Given the description of an element on the screen output the (x, y) to click on. 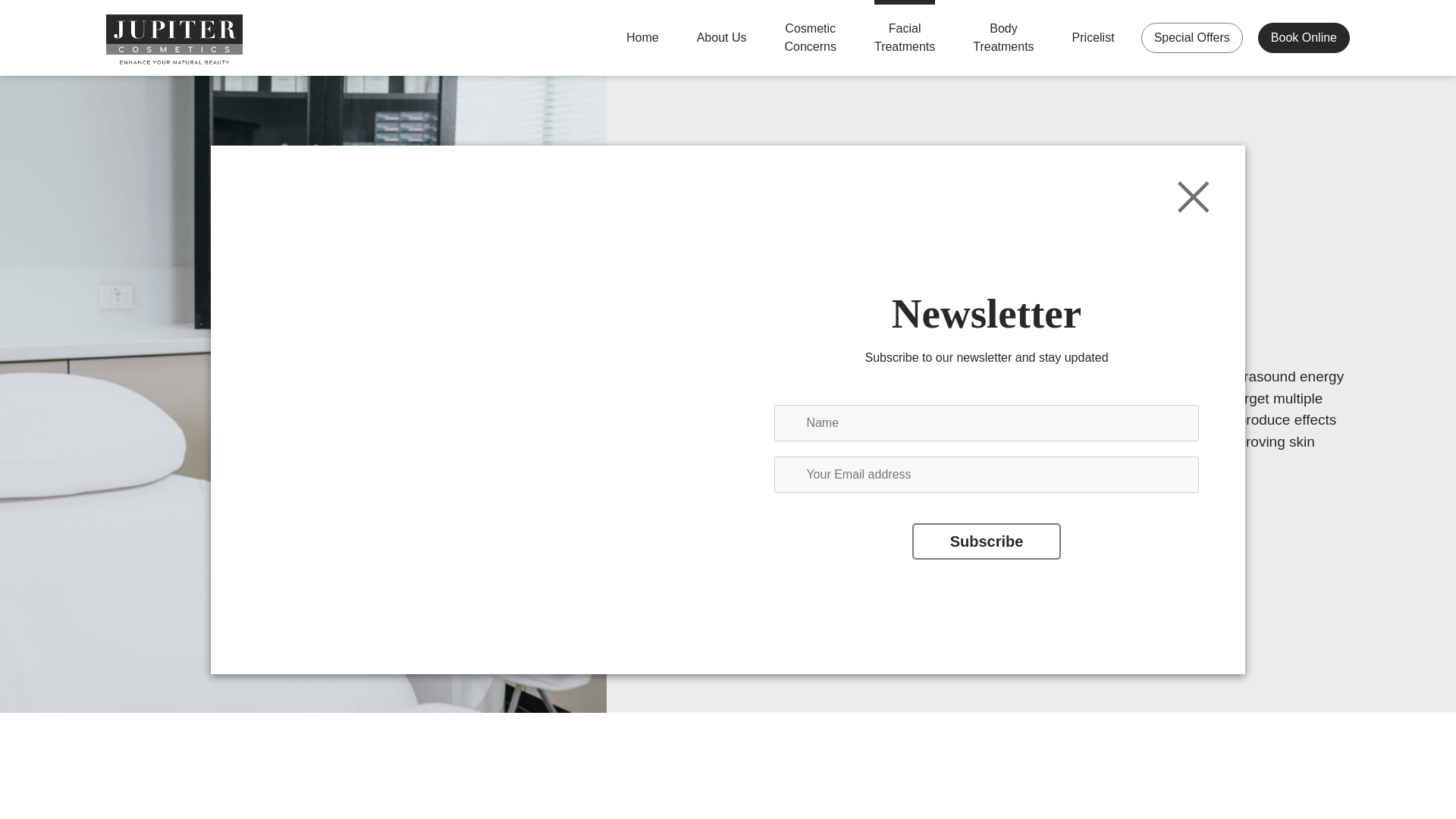
Book Online (1299, 38)
Subscribe (986, 541)
Special Offers (1192, 38)
